Given the description of an element on the screen output the (x, y) to click on. 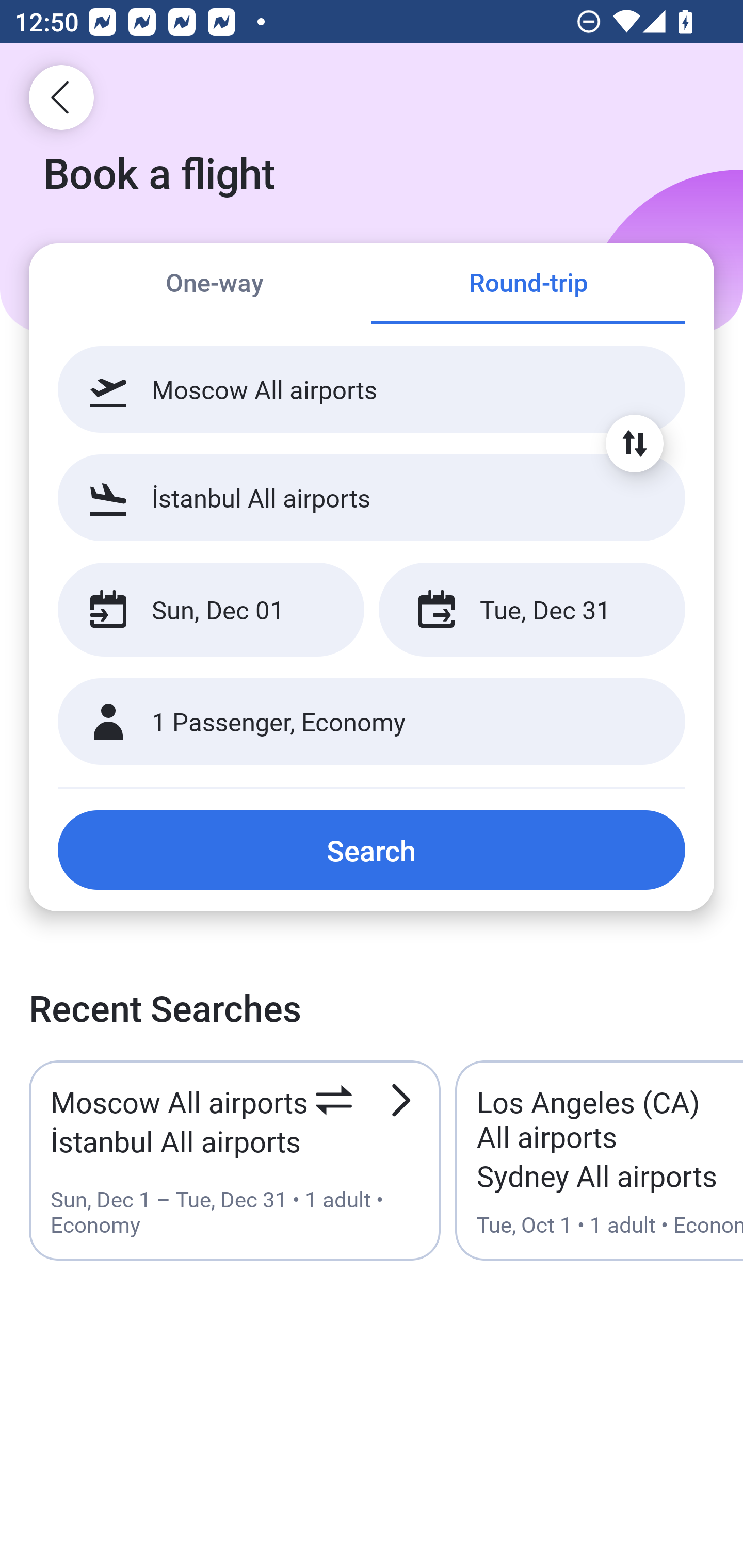
One-way (214, 284)
Moscow All airports (371, 389)
İstanbul All airports (371, 497)
Sun, Dec 01 (210, 609)
Tue, Dec 31 (531, 609)
1 Passenger, Economy (371, 721)
Search (371, 849)
